Given the description of an element on the screen output the (x, y) to click on. 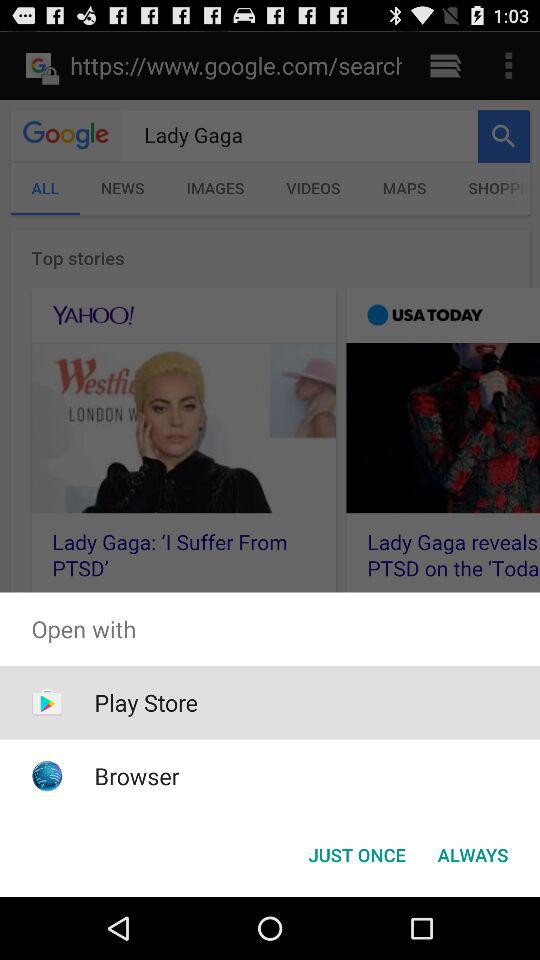
turn on app below open with (472, 854)
